Given the description of an element on the screen output the (x, y) to click on. 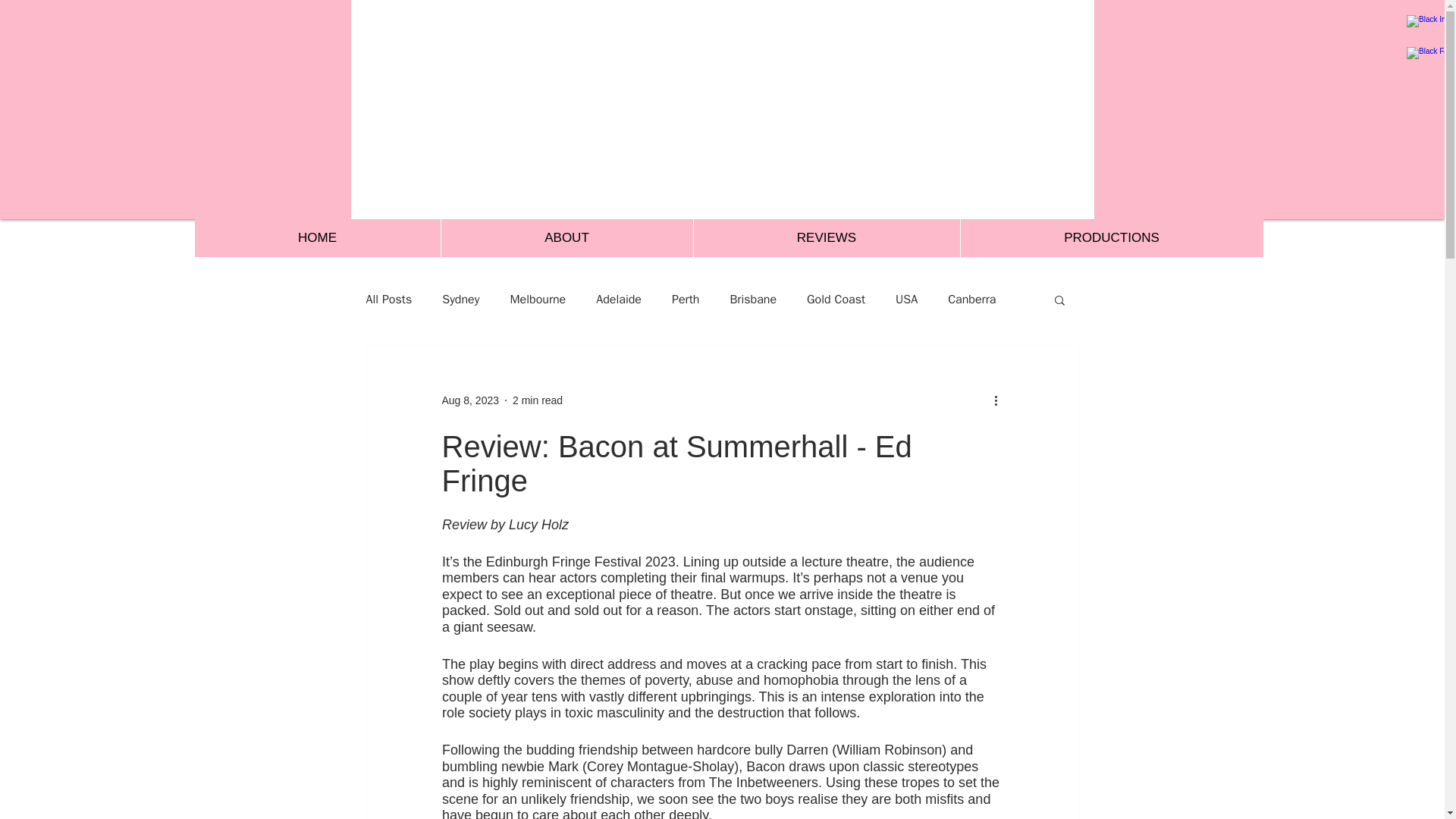
USA (906, 299)
Canberra (971, 299)
Adelaide (618, 299)
Sydney (460, 299)
Gold Coast (835, 299)
Aug 8, 2023 (470, 399)
All Posts (388, 299)
2 min read (537, 399)
Perth (684, 299)
ABOUT (566, 238)
REVIEWS (826, 238)
Melbourne (537, 299)
HOME (316, 238)
Brisbane (752, 299)
